Given the description of an element on the screen output the (x, y) to click on. 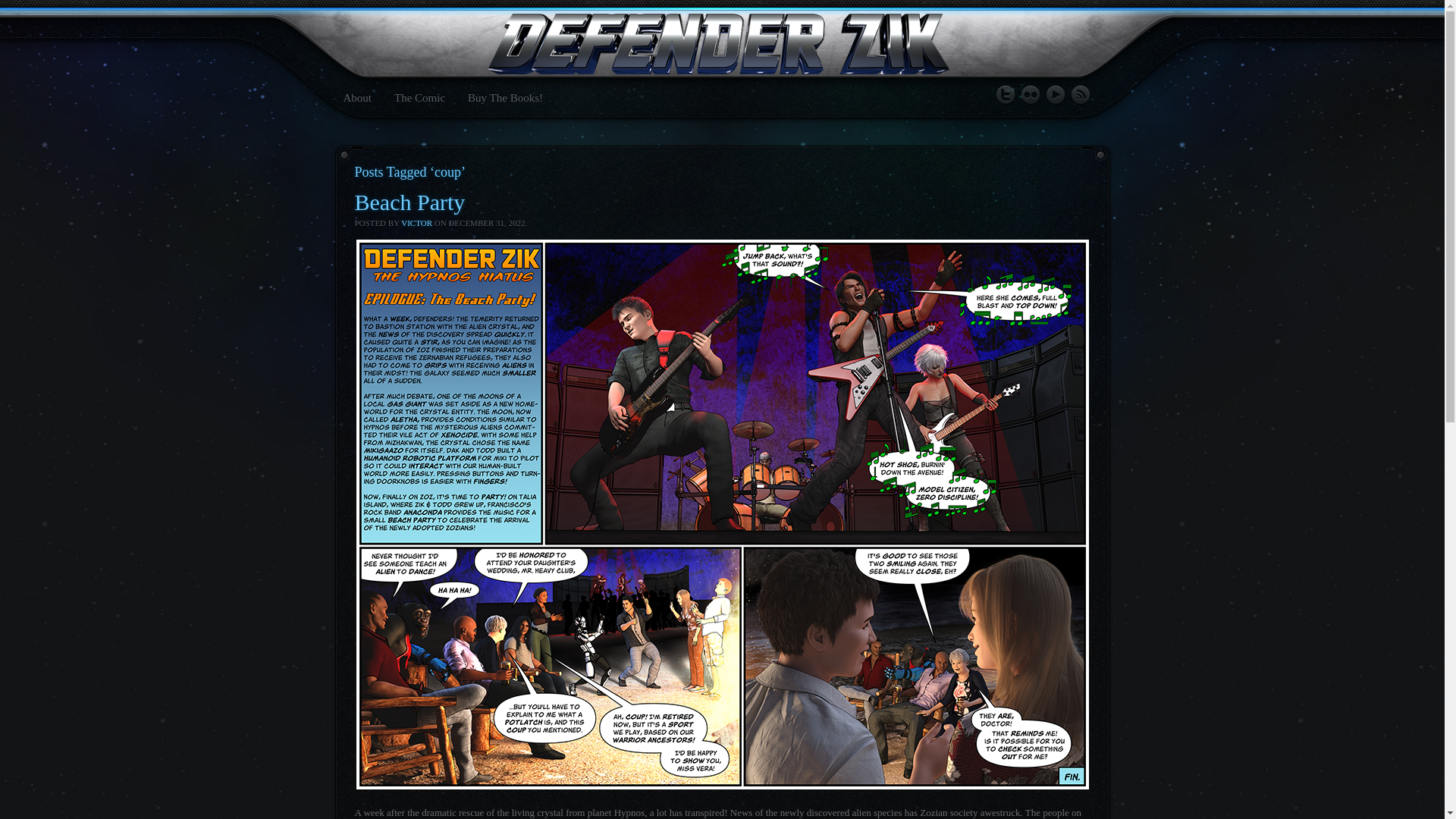
Victor (416, 222)
Buy The Books! (505, 97)
Beach Party (410, 201)
Beach Party (410, 201)
About (356, 97)
The Comic (419, 97)
Beach Party (722, 785)
VICTOR (416, 222)
